Given the description of an element on the screen output the (x, y) to click on. 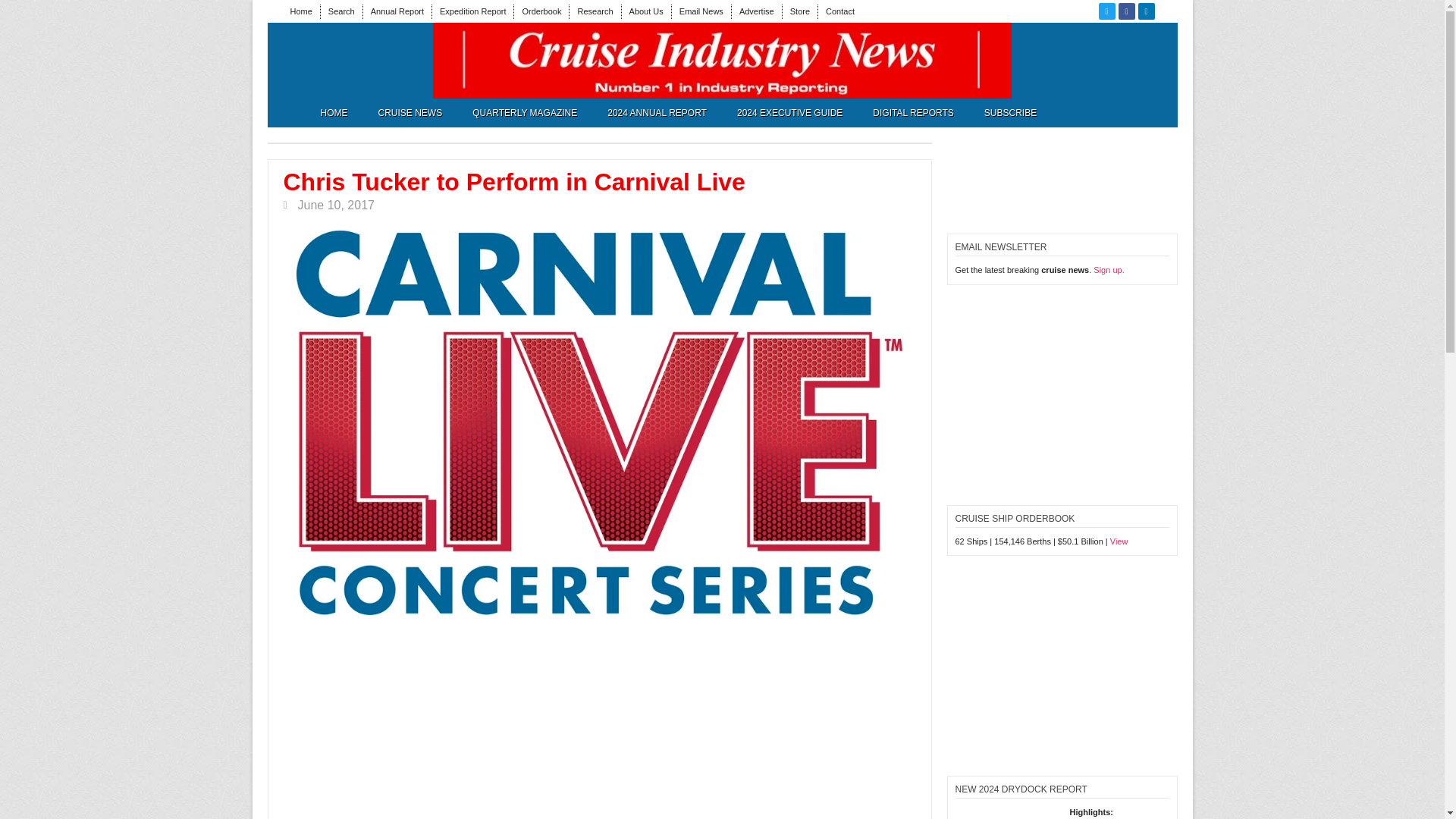
Email News (701, 11)
CRUISE NEWS (409, 112)
Store (799, 11)
Research (594, 11)
Orderbook (540, 11)
Expedition Report (472, 11)
Search (342, 11)
Home (300, 11)
HOME (333, 112)
QUARTERLY MAGAZINE (524, 112)
Contact (839, 11)
Annual Report (397, 11)
About Us (645, 11)
Advertise (756, 11)
